Given the description of an element on the screen output the (x, y) to click on. 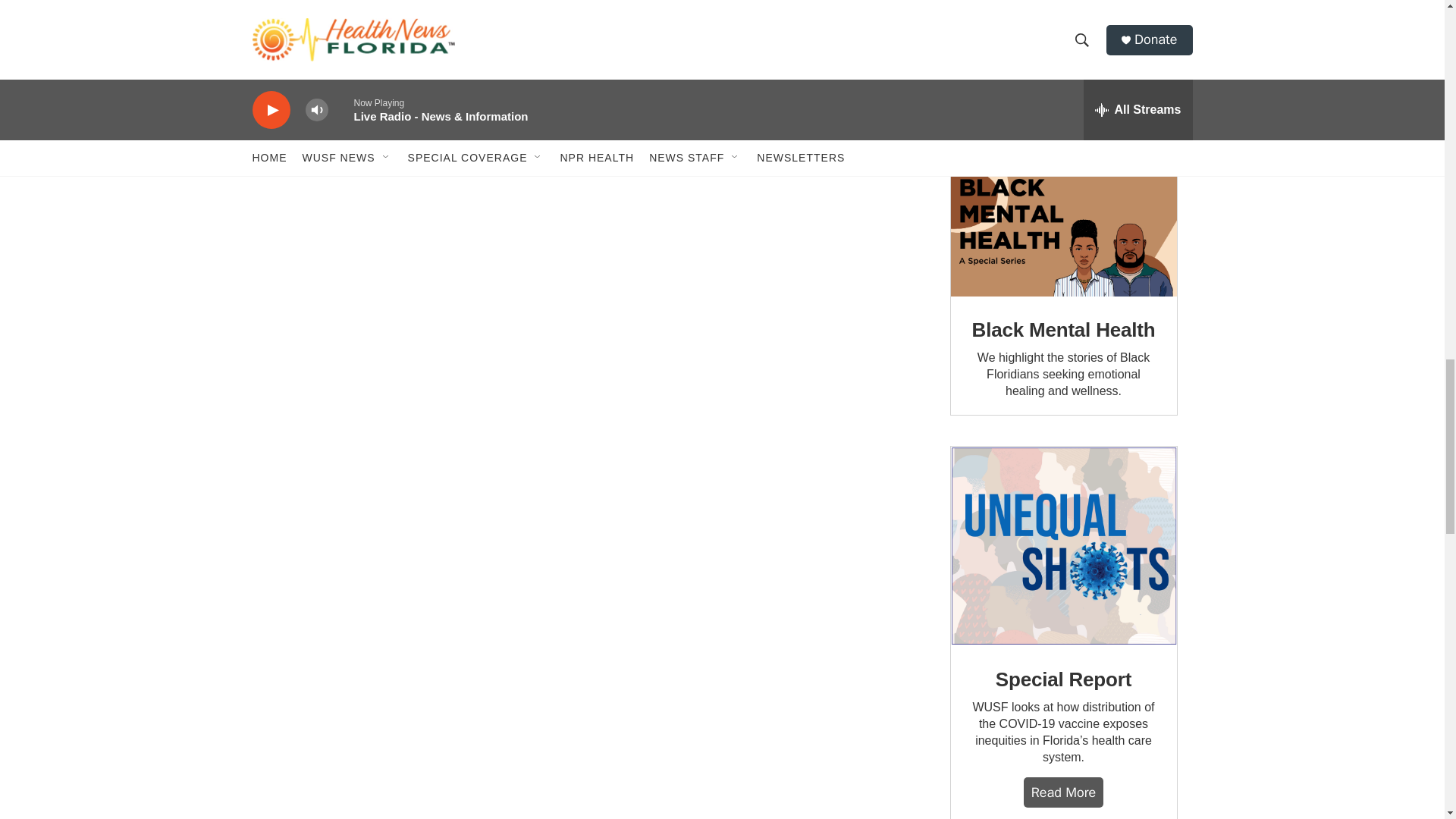
3rd party ad content (1062, 69)
